Given the description of an element on the screen output the (x, y) to click on. 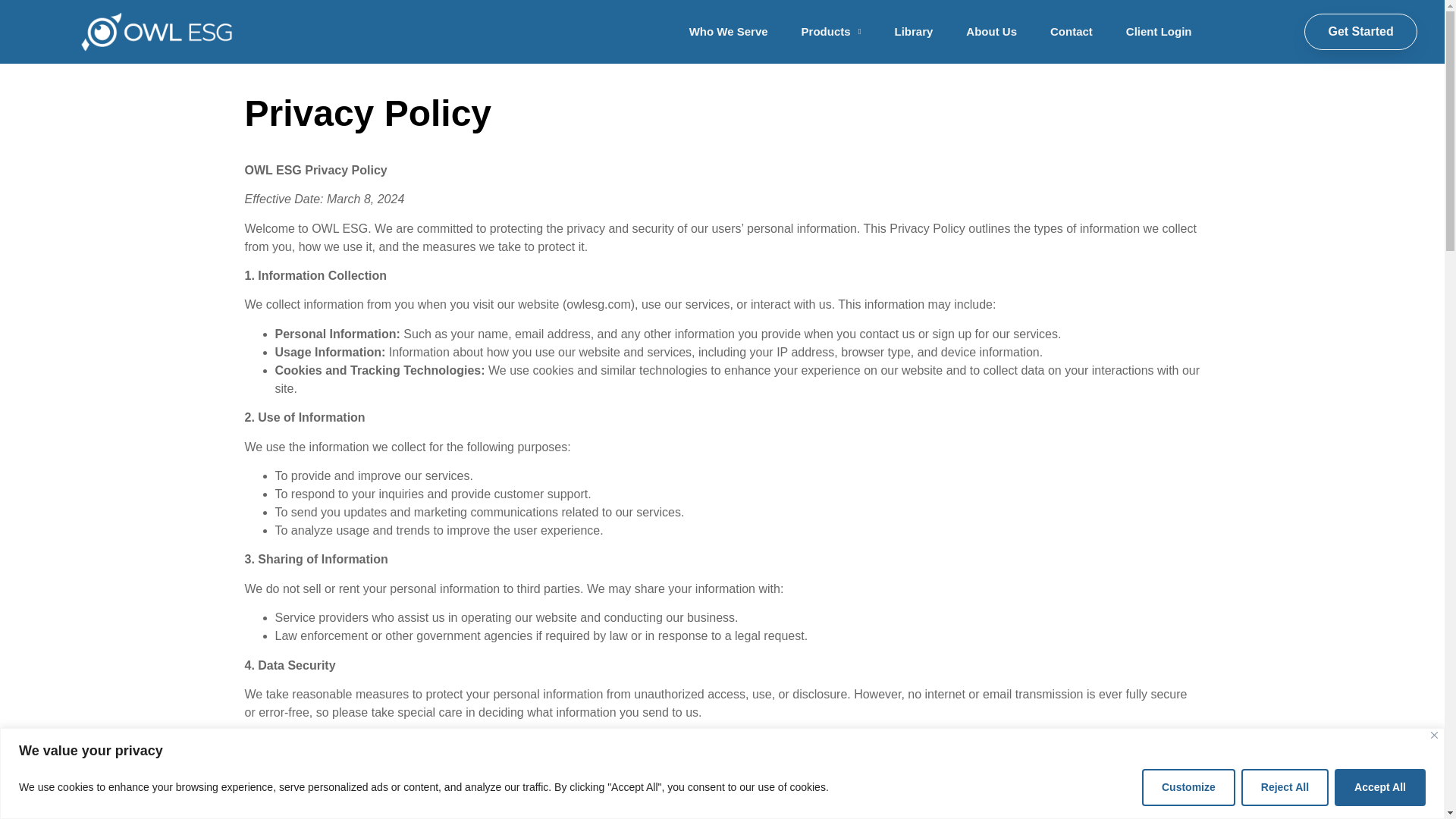
Client Login (1158, 31)
About Us (991, 31)
Products (830, 31)
Accept All (1380, 787)
Library (913, 31)
Customize (1187, 787)
Contact (1071, 31)
Reject All (1284, 787)
Who We Serve (728, 31)
